Given the description of an element on the screen output the (x, y) to click on. 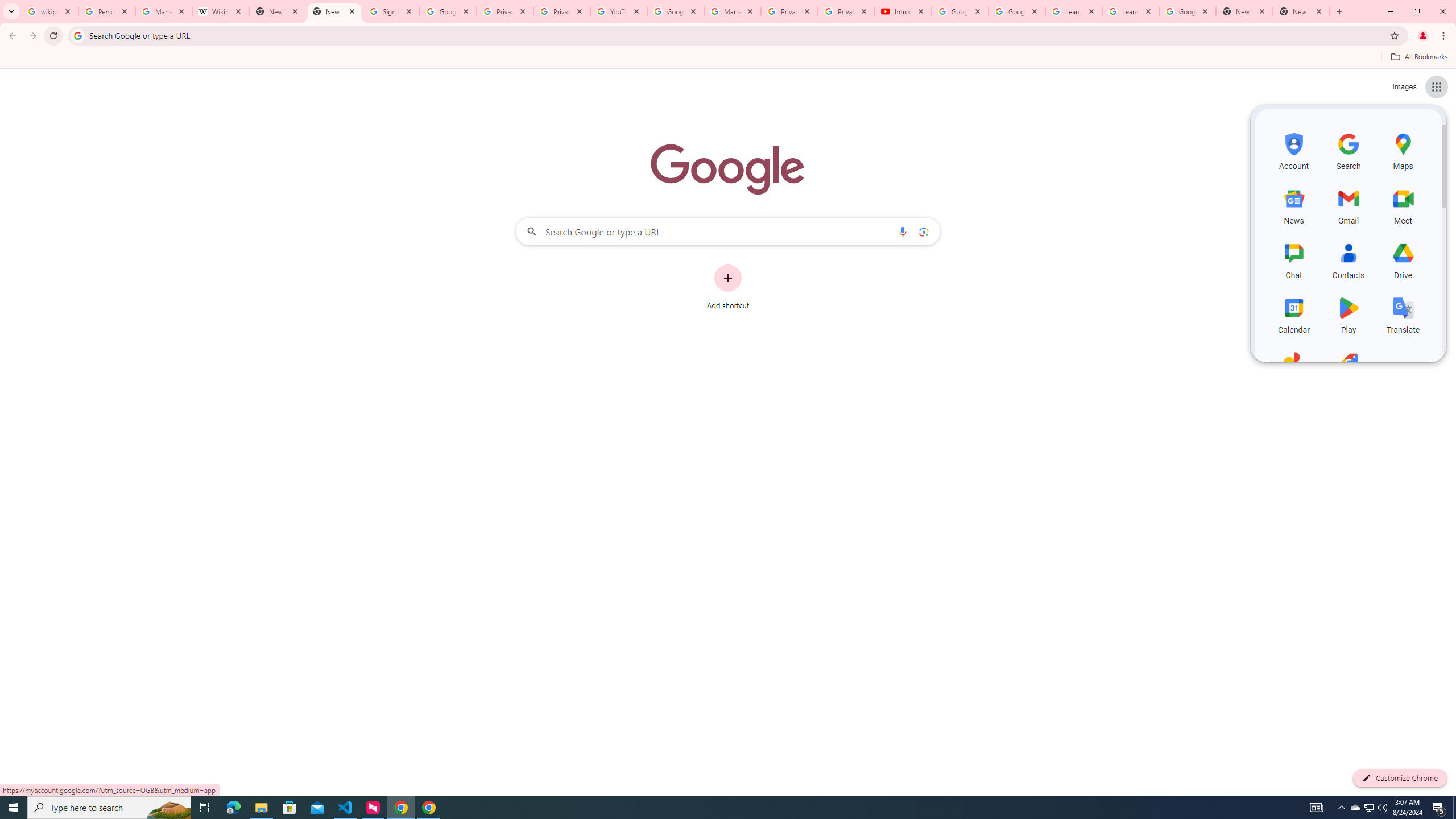
Manage your Location History - Google Search Help (163, 11)
Sign in - Google Accounts (391, 11)
Google Account Help (675, 11)
All Bookmarks (1418, 56)
Translate, row 4 of 5 and column 3 of 3 in the first section (1402, 313)
Search for Images  (1403, 87)
Gmail, row 2 of 5 and column 2 of 3 in the first section (1348, 204)
News, row 2 of 5 and column 1 of 3 in the first section (1293, 204)
Customize Chrome (1399, 778)
Search by voice (902, 230)
